Given the description of an element on the screen output the (x, y) to click on. 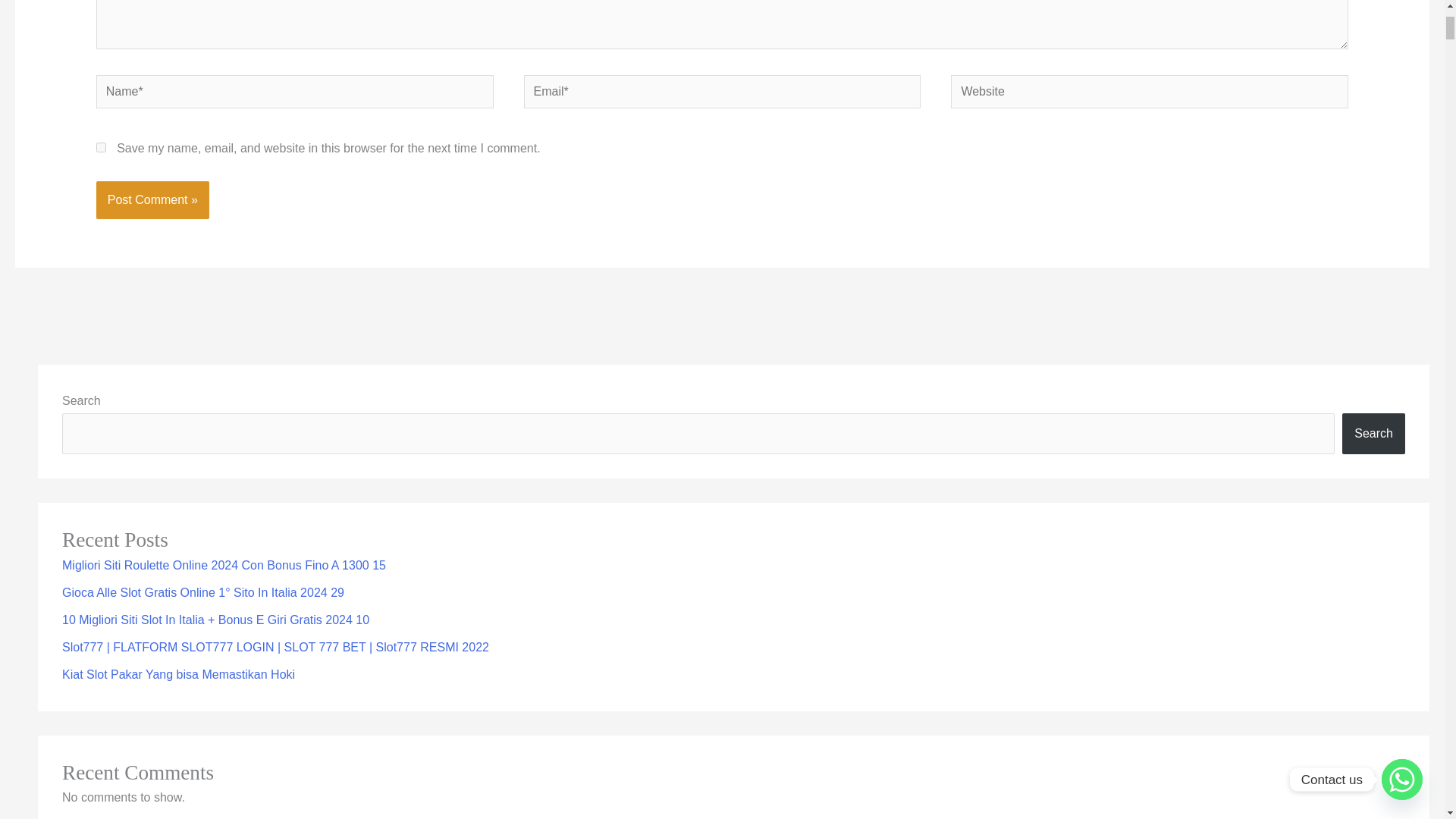
yes (101, 147)
Search (1373, 433)
Migliori Siti Roulette Online 2024 Con Bonus Fino A 1300 15 (223, 564)
